Given the description of an element on the screen output the (x, y) to click on. 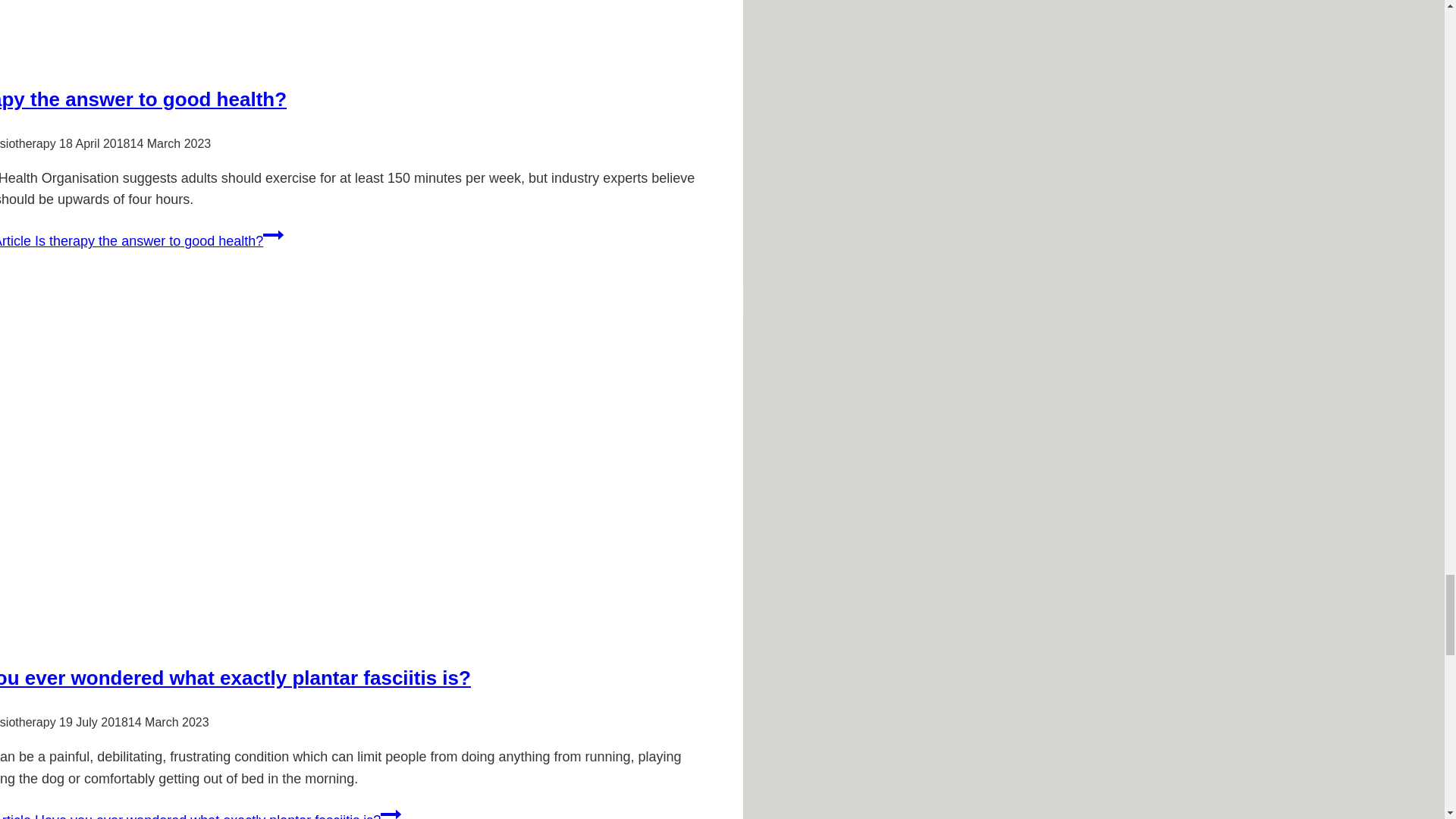
Continue (273, 234)
Continue (390, 811)
